Given the description of an element on the screen output the (x, y) to click on. 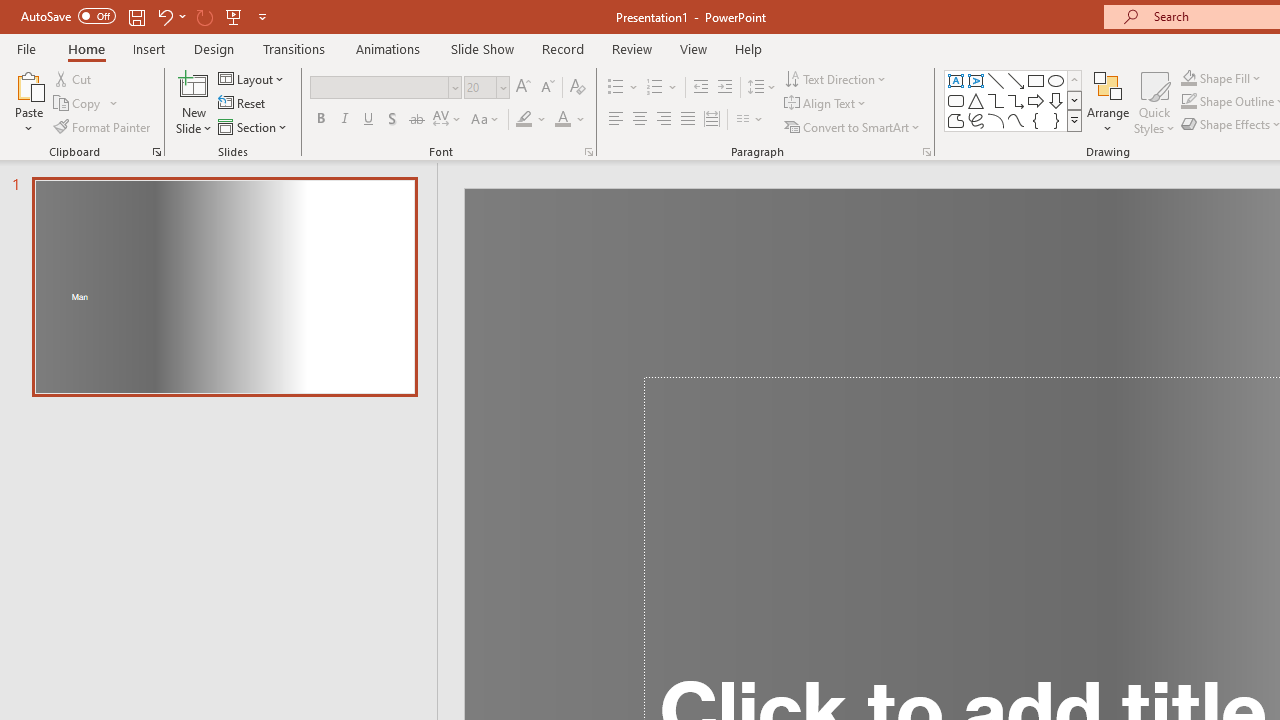
Class: NetUIImage (1075, 120)
Line Arrow (1016, 80)
Text Highlight Color (531, 119)
Freeform: Scribble (975, 120)
New Slide (193, 84)
Undo (164, 15)
Rectangle: Rounded Corners (955, 100)
Increase Indent (725, 87)
Numbering (661, 87)
Copy (78, 103)
Review (631, 48)
Strikethrough (416, 119)
AutoSave (68, 16)
Slide Show (481, 48)
Customize Quick Access Toolbar (262, 15)
